Given the description of an element on the screen output the (x, y) to click on. 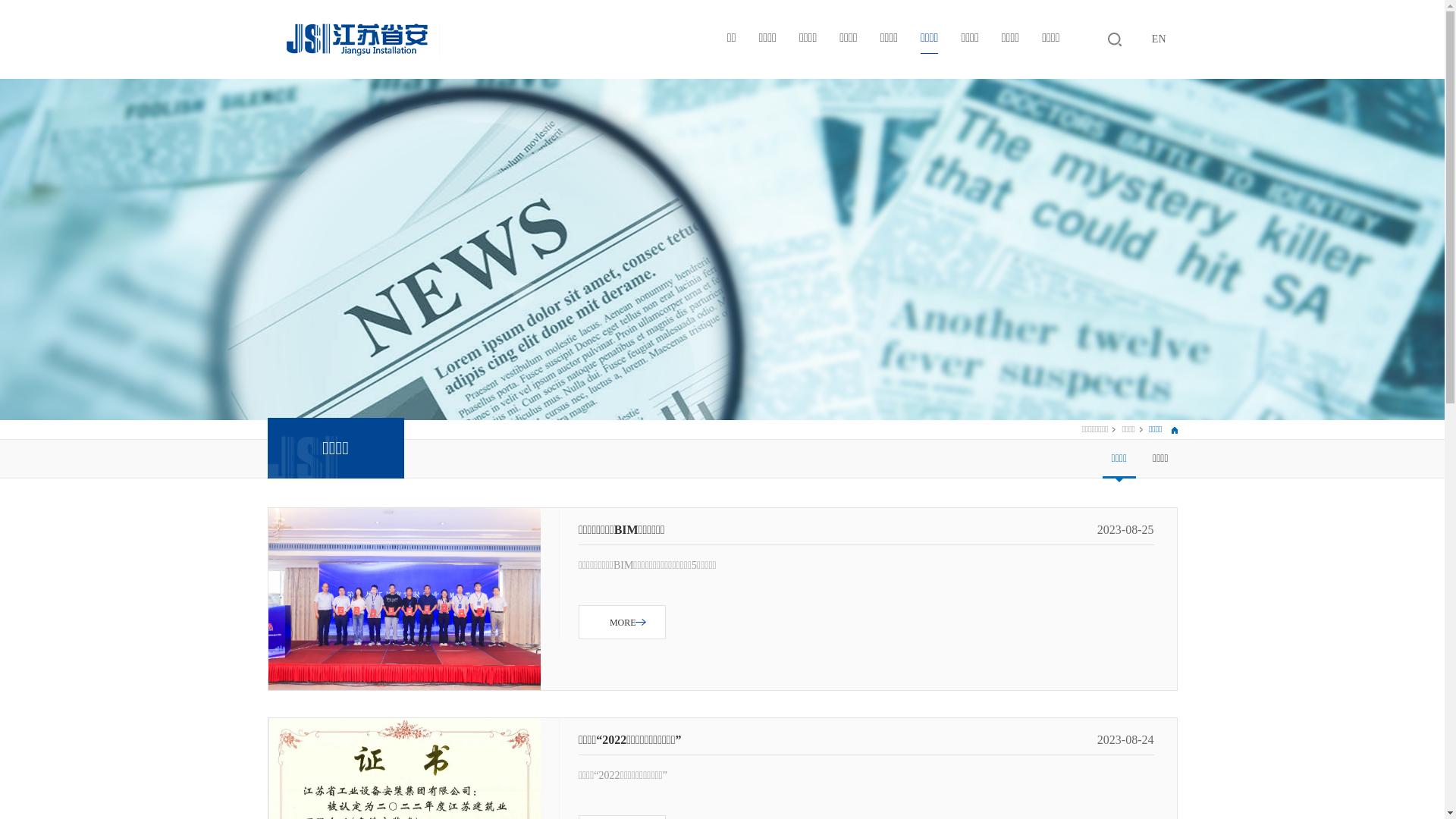
MORE Element type: text (621, 622)
